Given the description of an element on the screen output the (x, y) to click on. 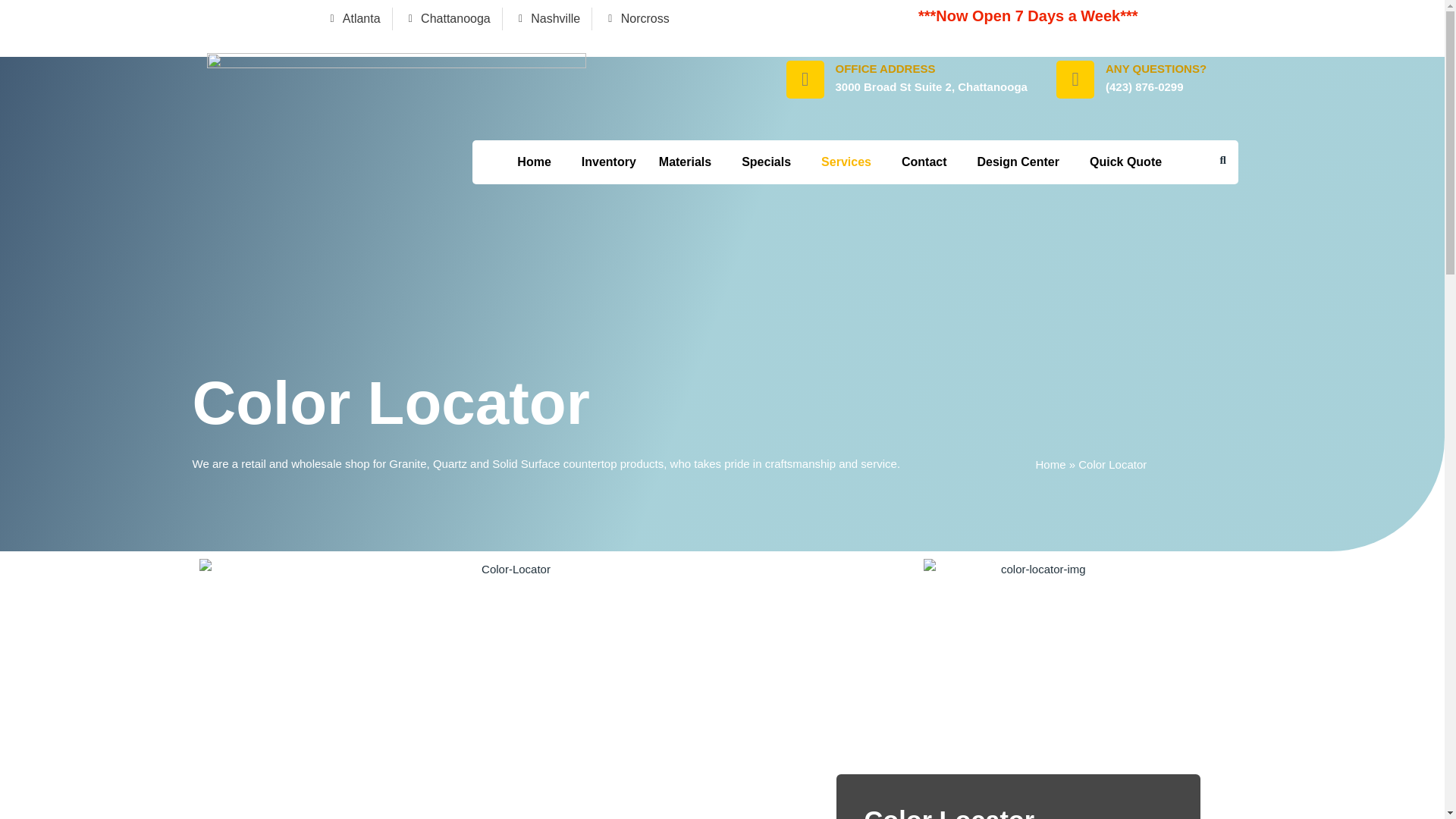
Quick Quote (1125, 161)
Contact (927, 161)
Home (1050, 463)
OFFICE ADDRESS (885, 68)
ANY QUESTIONS? (1156, 68)
Home (537, 161)
Inventory (608, 161)
Design Center (1022, 161)
Norcross (636, 18)
Nashville (546, 18)
Services (849, 161)
Atlanta (352, 18)
Chattanooga (447, 18)
Specials (769, 161)
Materials (688, 161)
